Given the description of an element on the screen output the (x, y) to click on. 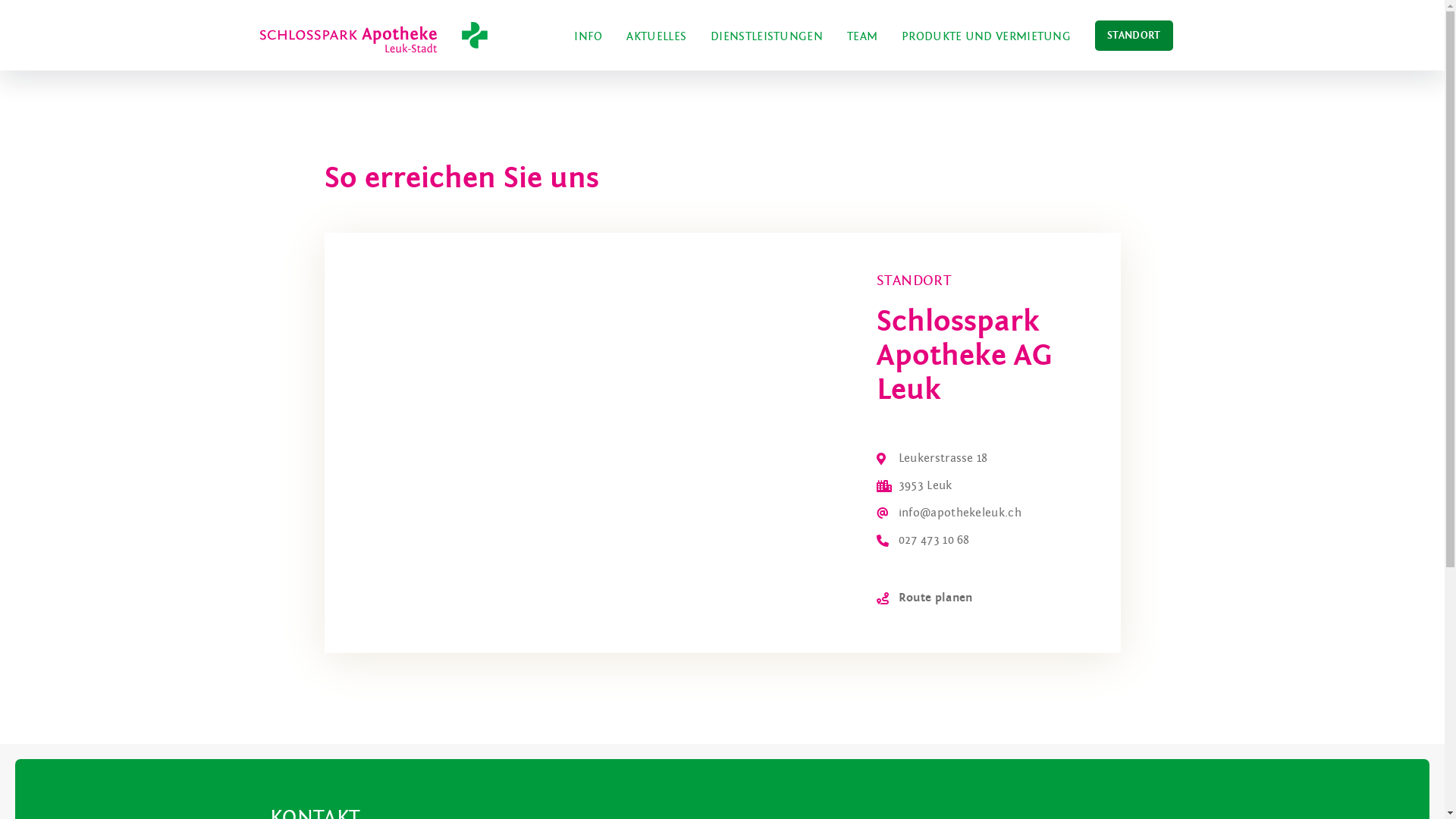
PRODUKTE UND VERMIETUNG Element type: text (985, 36)
INFO Element type: text (588, 36)
TEAM Element type: text (862, 36)
DIENSTLEISTUNGEN Element type: text (766, 36)
STANDORT Element type: text (1133, 35)
info@apothekeleuk.ch Element type: text (959, 511)
Route planen Element type: text (935, 596)
AKTUELLES Element type: text (656, 36)
027 473 10 68 Element type: text (933, 539)
